Given the description of an element on the screen output the (x, y) to click on. 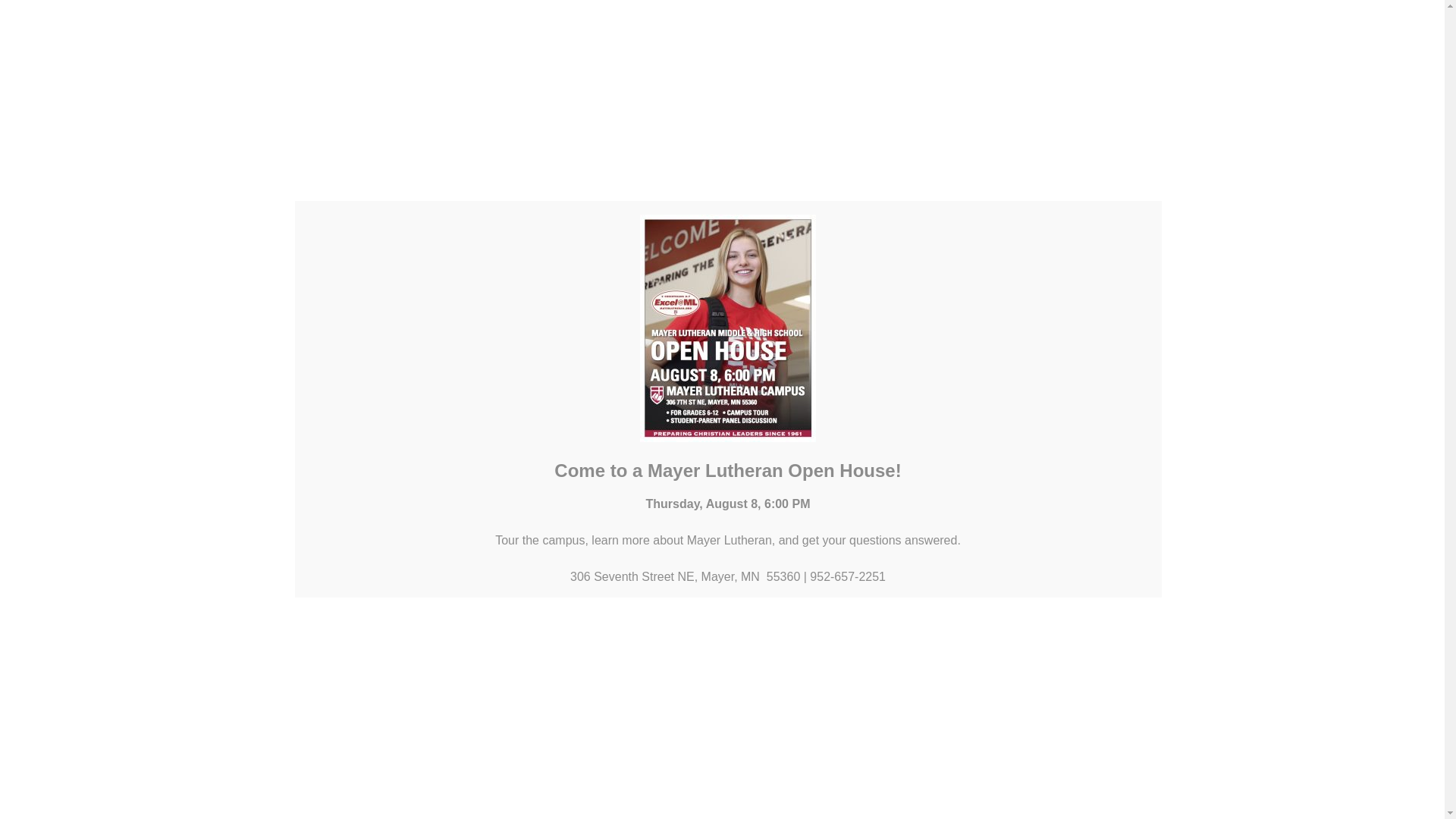
ALUMNI (479, 28)
PARENTS (311, 28)
STUDENTS (398, 28)
